Given the description of an element on the screen output the (x, y) to click on. 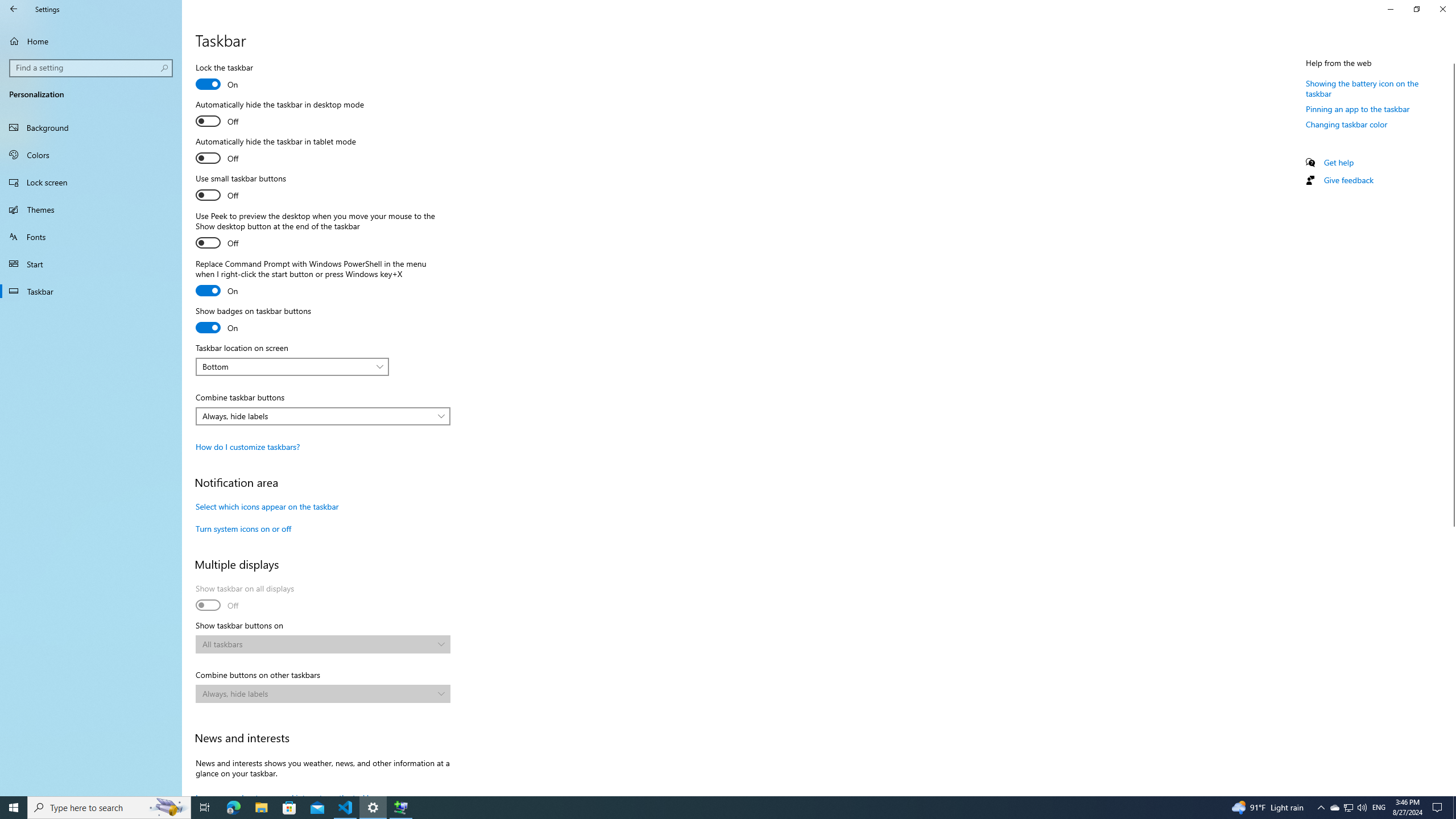
Home (91, 40)
Colors (91, 154)
Vertical Large Increase (1451, 656)
Learn more about news and interests on the taskbar (286, 793)
Showing the battery icon on the taskbar (1362, 87)
Themes (91, 208)
Always, hide labels (317, 692)
Taskbar (91, 290)
